Given the description of an element on the screen output the (x, y) to click on. 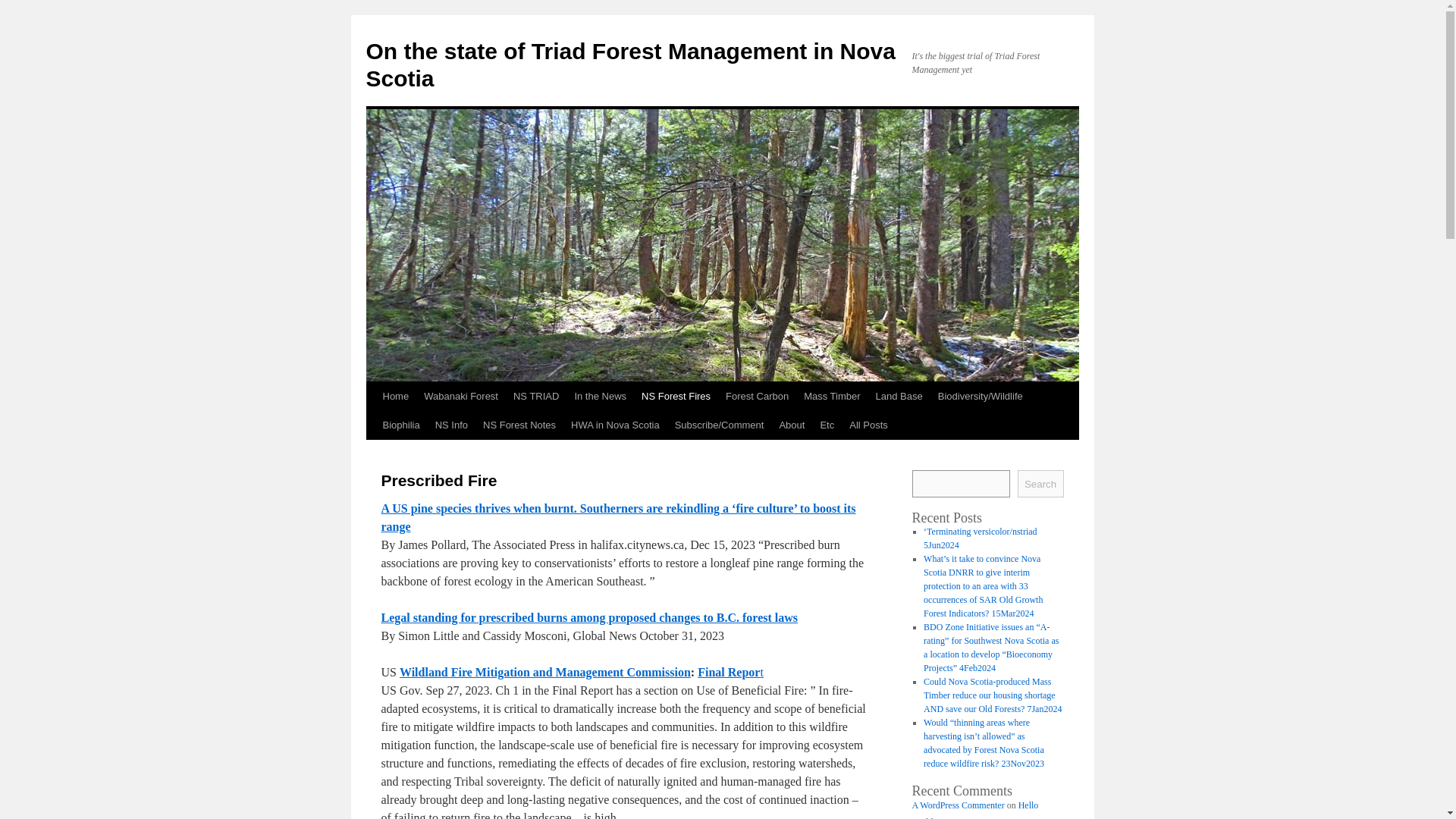
Wabanaki Forest (460, 396)
On the state of Triad Forest Management in Nova Scotia (630, 64)
Home (395, 396)
NS Forest Fires (675, 396)
NS TRIAD (535, 396)
In the News (599, 396)
On the state of Triad Forest Management in Nova Scotia (630, 64)
